Given the description of an element on the screen output the (x, y) to click on. 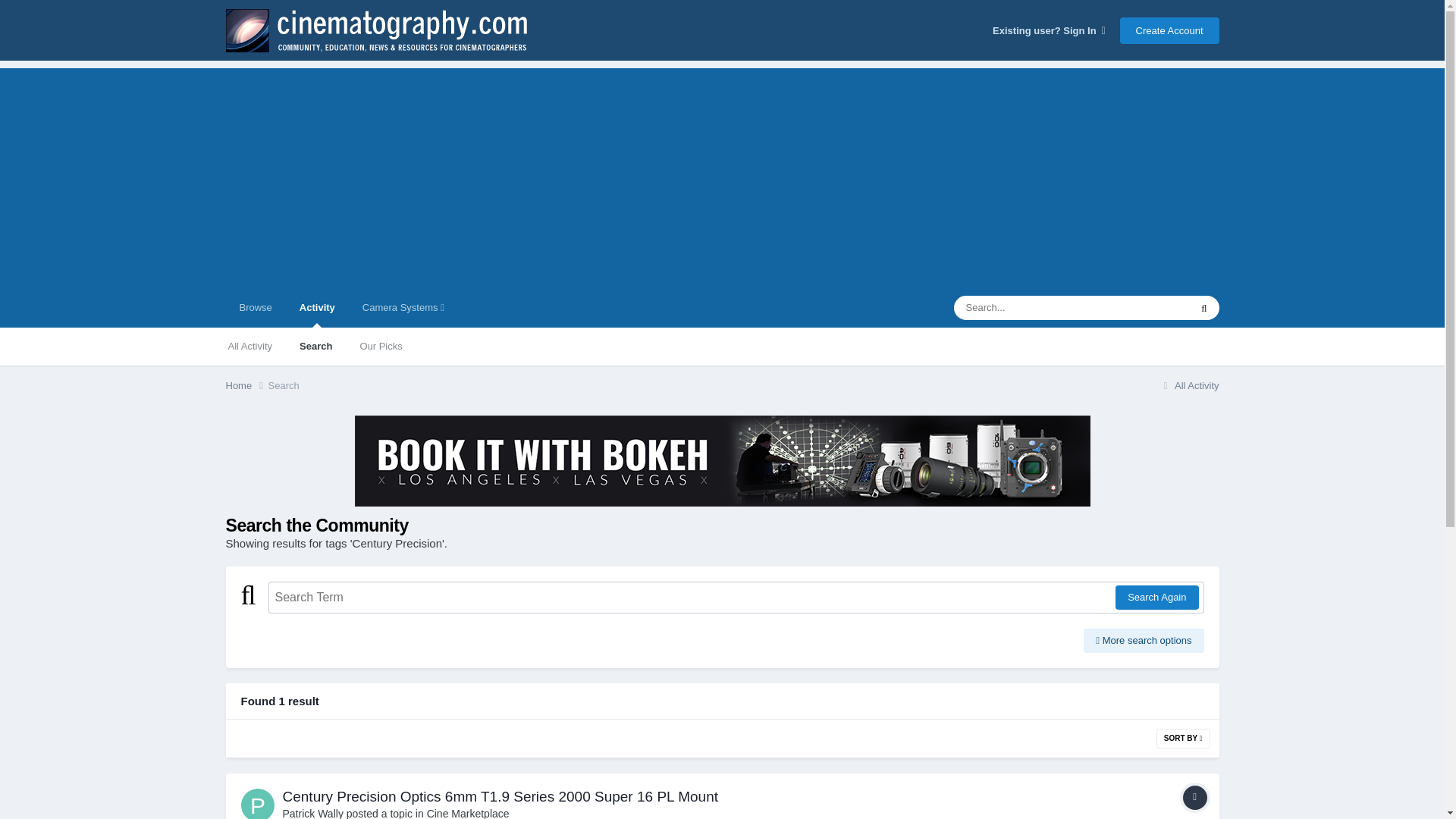
Camera Systems (403, 307)
Go to Patrick Wally's profile (258, 803)
Activity (317, 307)
Existing user? Sign In   (1048, 30)
Go to Patrick Wally's profile (312, 813)
Topic (1194, 797)
Create Account (1169, 29)
Our Picks (380, 346)
Home (246, 385)
